Given the description of an element on the screen output the (x, y) to click on. 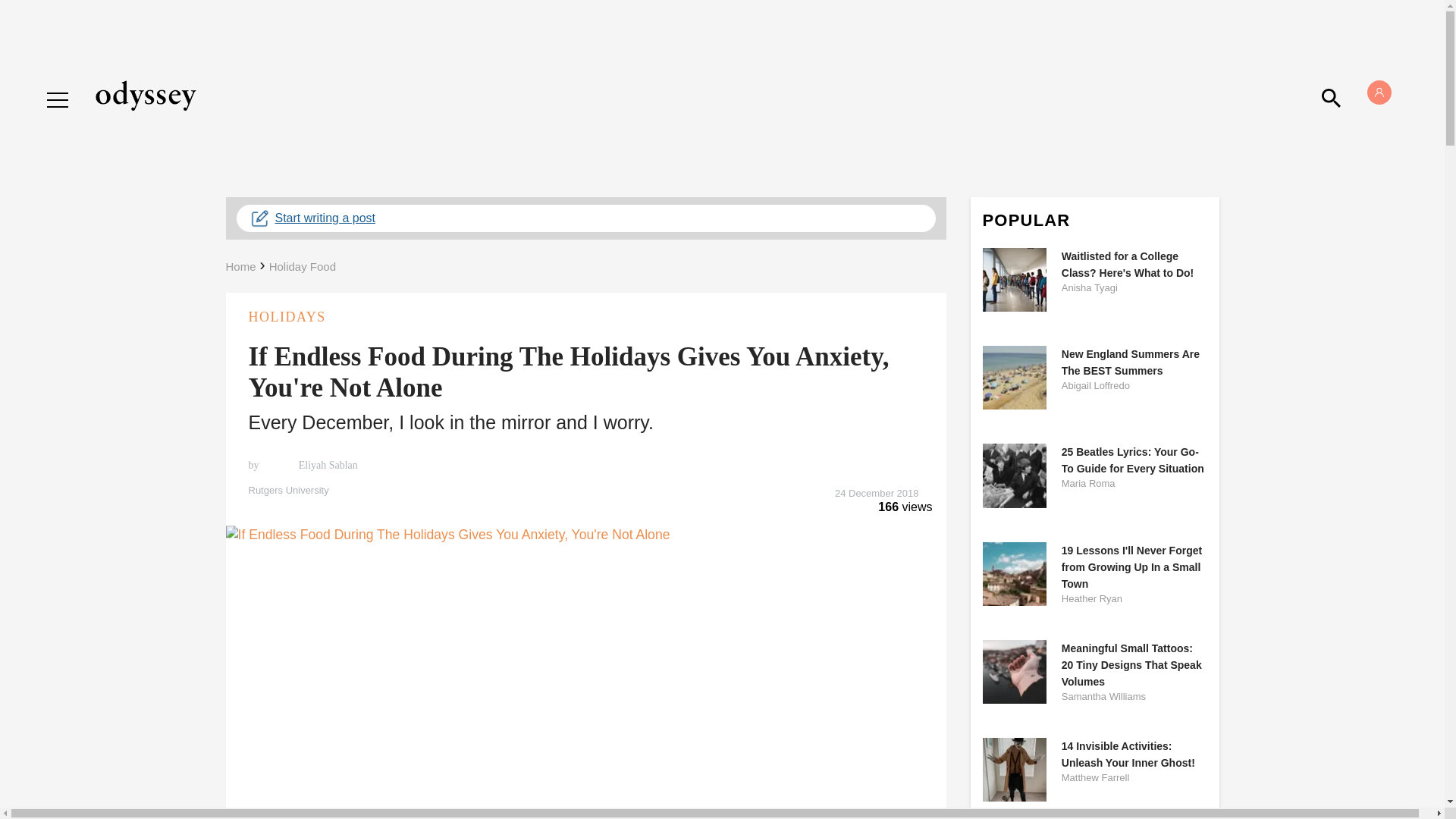
HOLIDAYS (585, 316)
Holiday Food (302, 266)
Start writing a post (585, 217)
Eliyah Sablan (326, 465)
GO BACK (79, 85)
Home (240, 266)
